Given the description of an element on the screen output the (x, y) to click on. 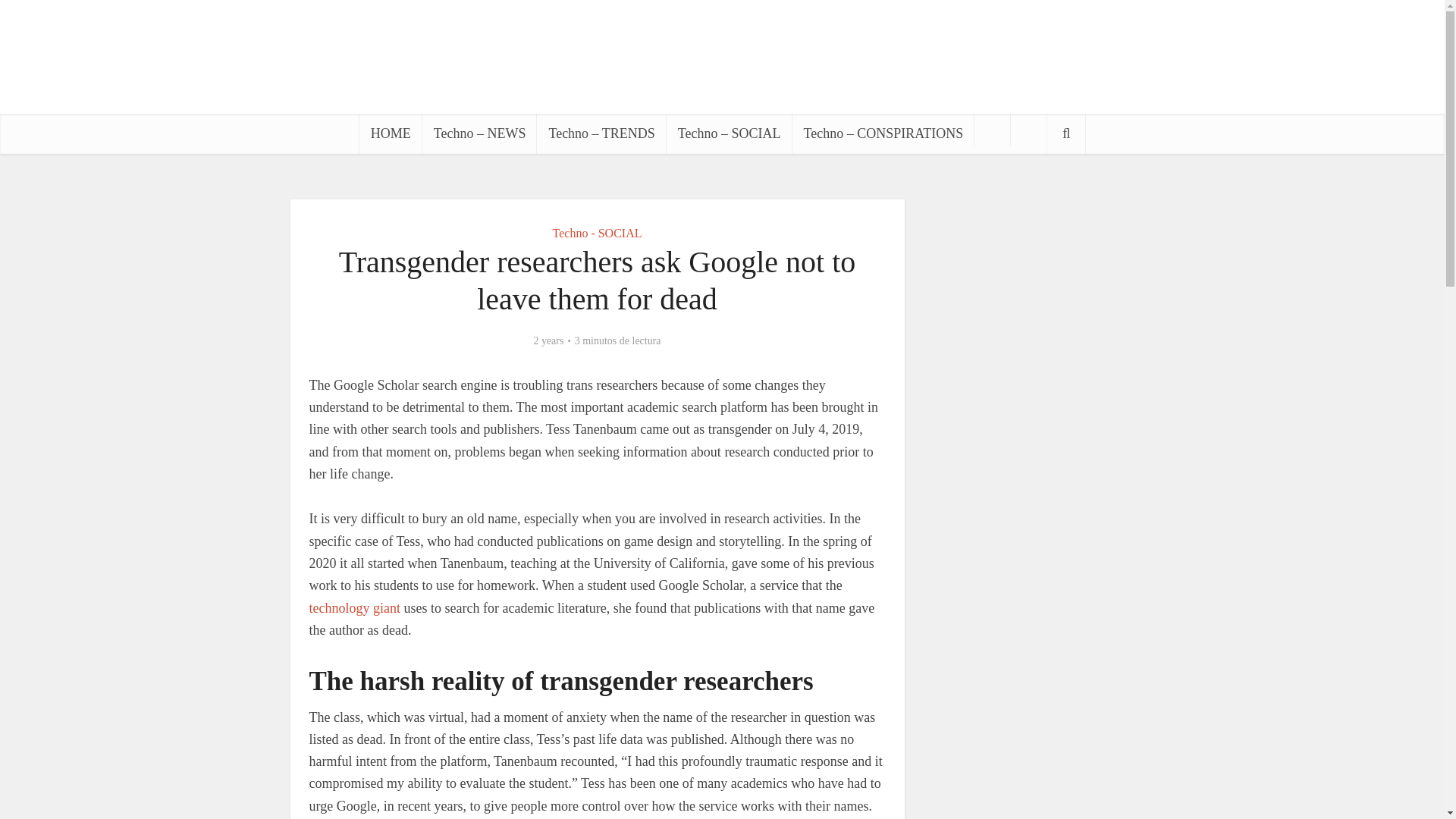
technology giant (354, 607)
Techno - SOCIAL (597, 232)
HOME (390, 133)
